Given the description of an element on the screen output the (x, y) to click on. 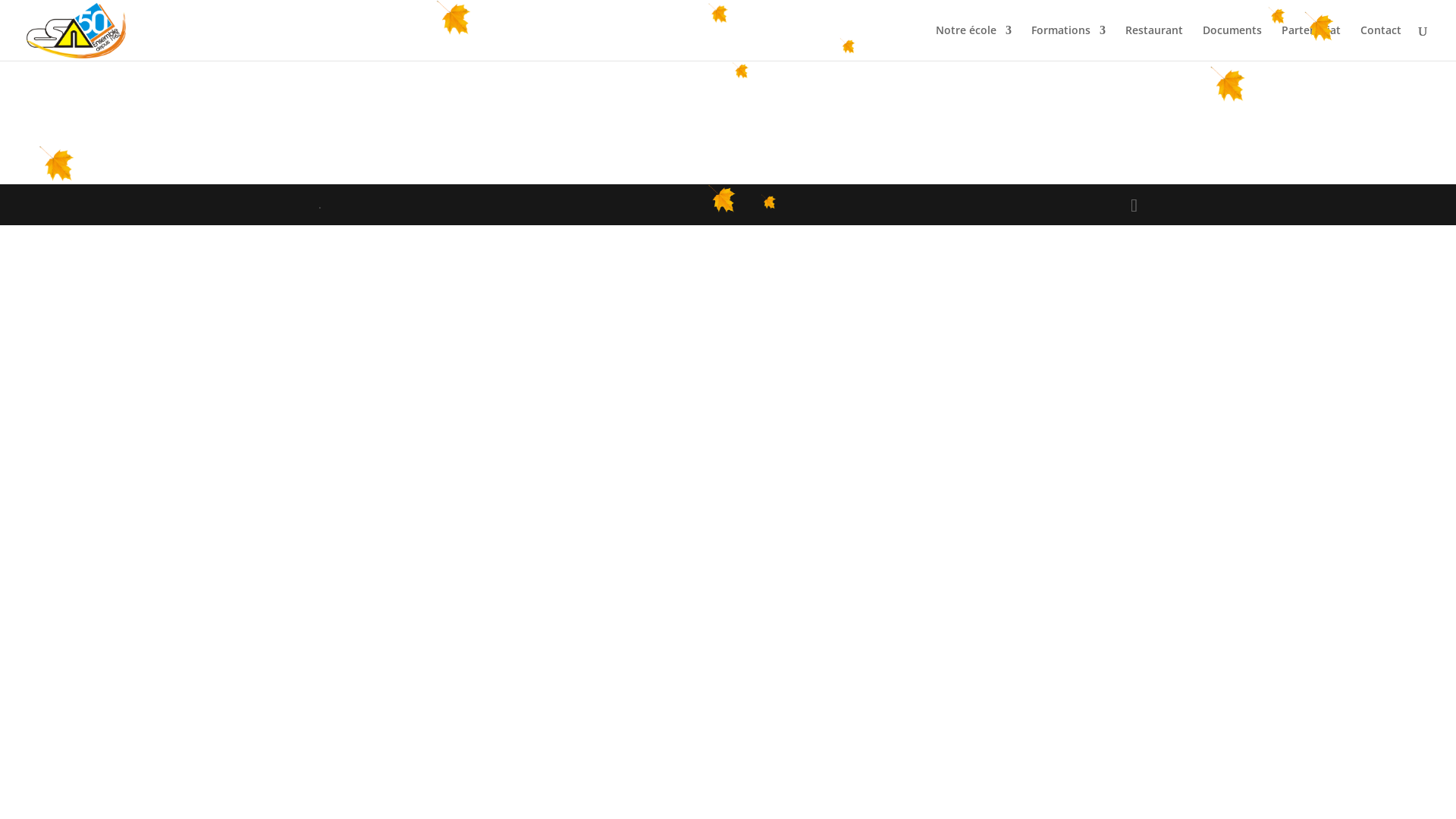
Partenariat Element type: text (1310, 42)
Restaurant Element type: text (1154, 42)
Documents Element type: text (1231, 42)
Formations Element type: text (1068, 42)
Contact Element type: text (1380, 42)
